Given the description of an element on the screen output the (x, y) to click on. 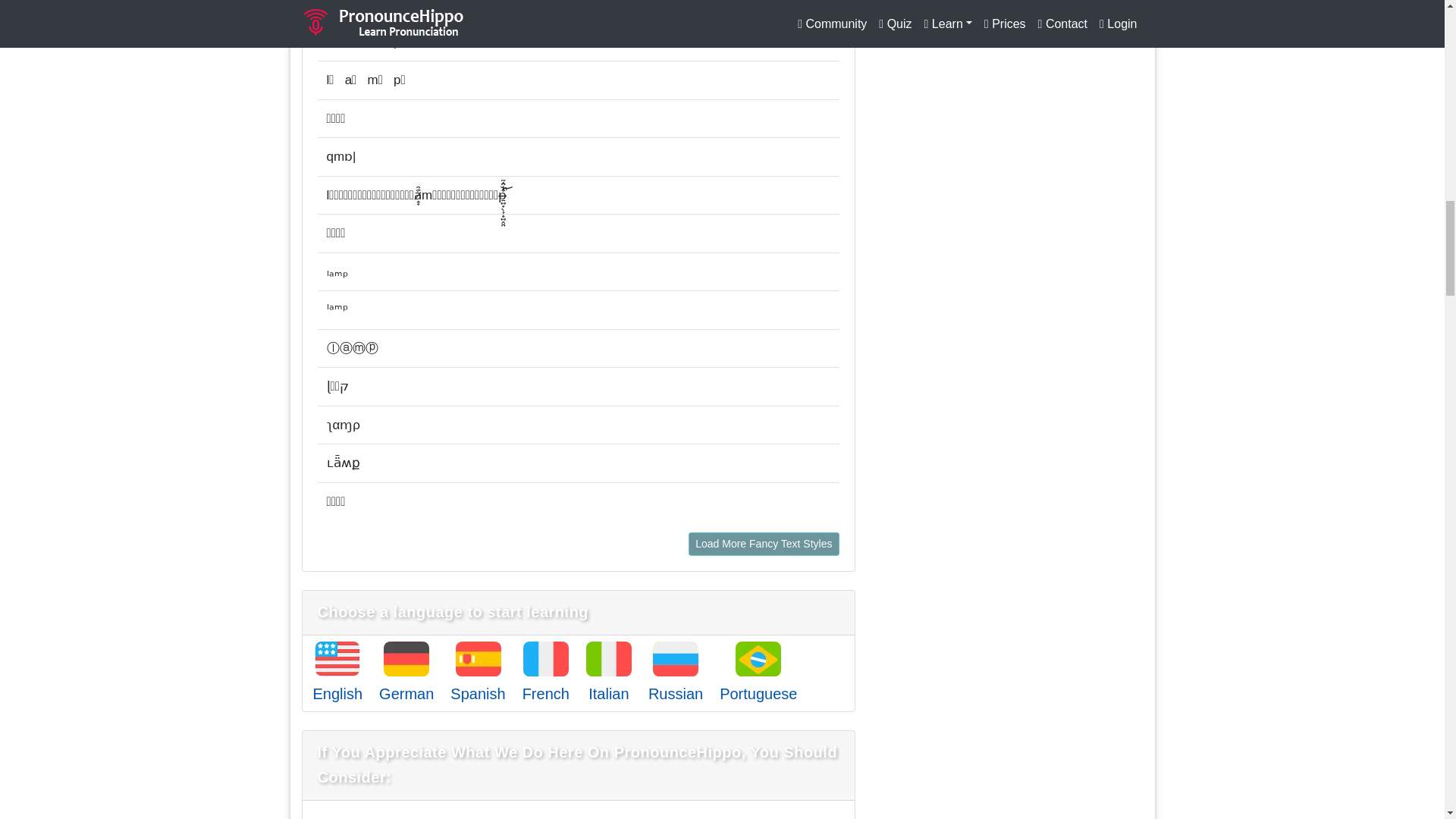
French (545, 693)
Italian (608, 693)
English (337, 693)
Spanish (477, 693)
German (405, 693)
Portuguese (757, 693)
Load More Fancy Text Styles (763, 544)
Russian (675, 693)
